Given the description of an element on the screen output the (x, y) to click on. 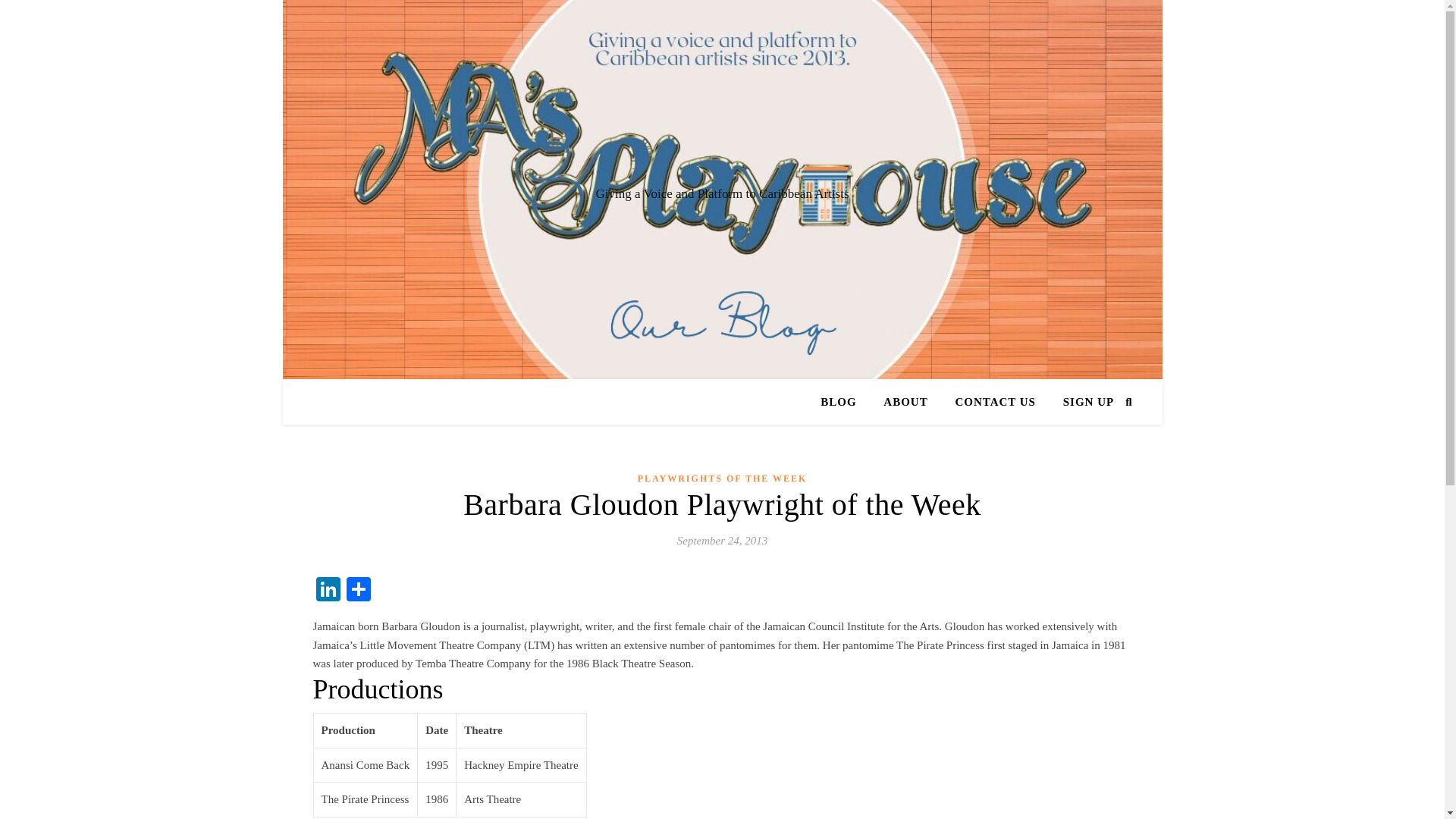
CONTACT US (995, 402)
LinkedIn (327, 591)
PLAYWRIGHTS OF THE WEEK (722, 478)
SIGN UP (1082, 402)
LinkedIn (327, 591)
ABOUT (904, 402)
BLOG (844, 402)
